Given the description of an element on the screen output the (x, y) to click on. 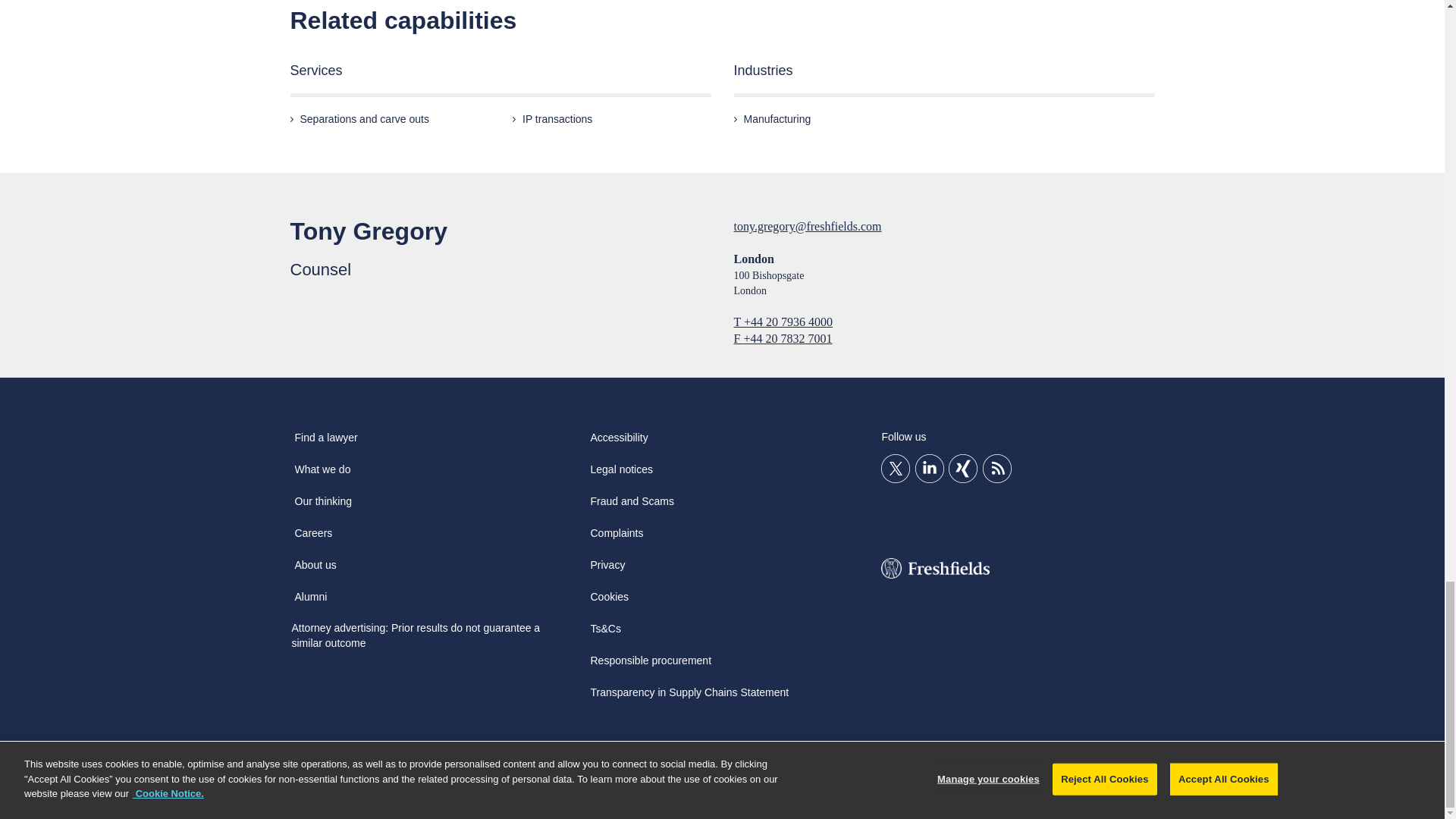
Find a lawyer (325, 442)
About us (315, 570)
What we do (322, 474)
Our thinking (322, 506)
Alumni (310, 602)
Careers (312, 538)
